Given the description of an element on the screen output the (x, y) to click on. 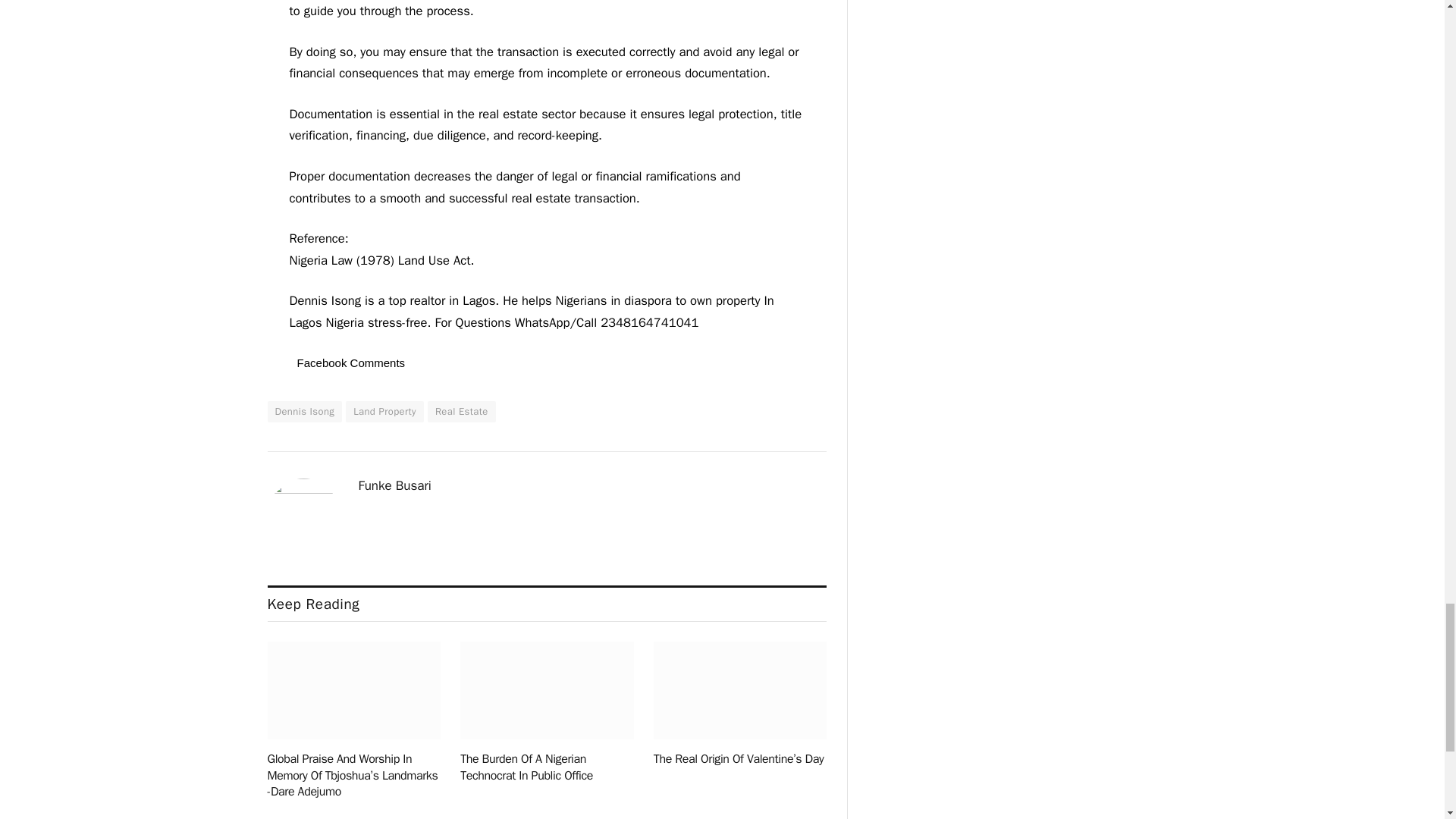
The Burden Of A Nigerian Technocrat In Public Office (546, 690)
Posts by Funke Busari (394, 485)
